Given the description of an element on the screen output the (x, y) to click on. 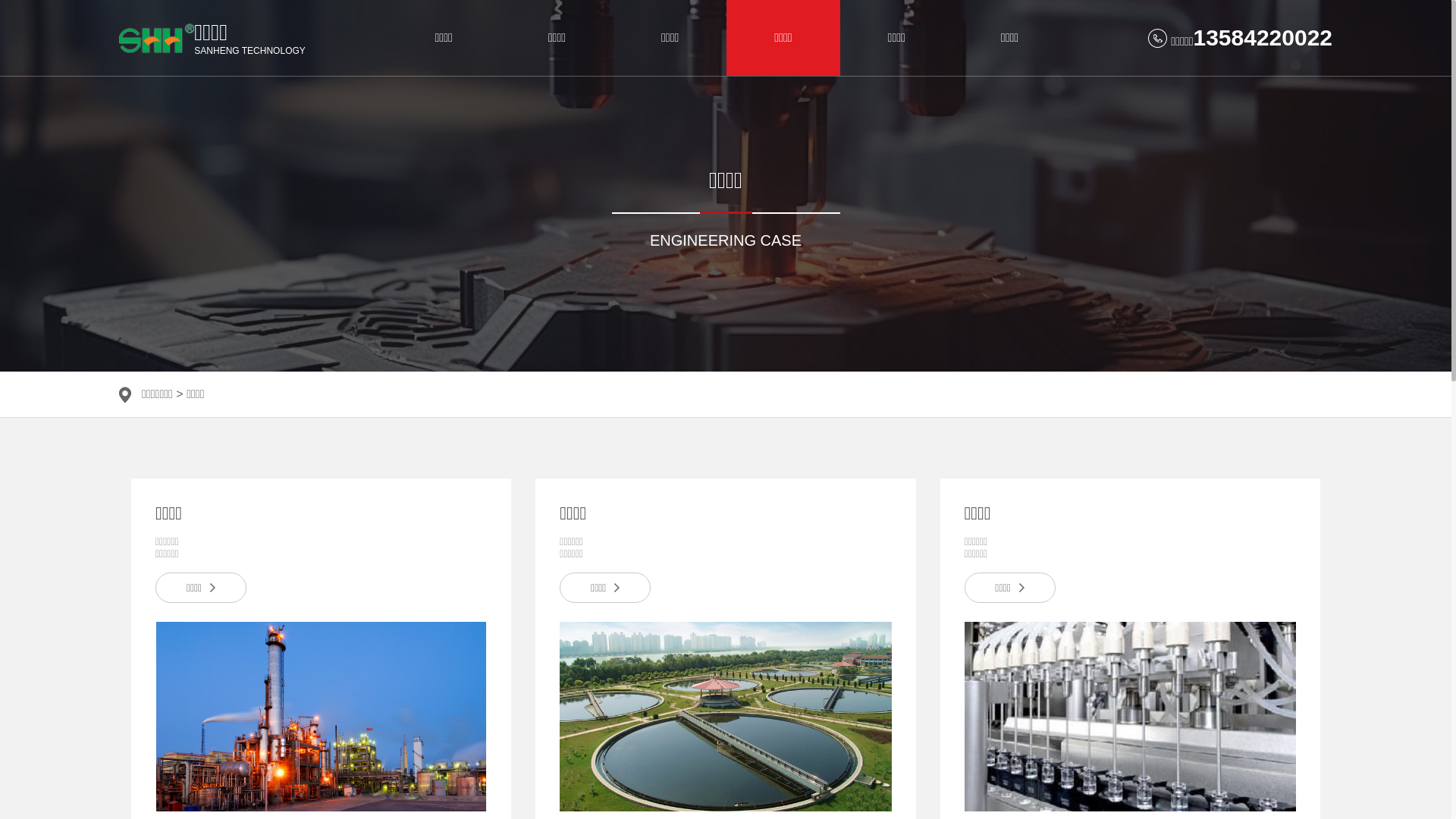
13584220022 Element type: text (1262, 37)
